Given the description of an element on the screen output the (x, y) to click on. 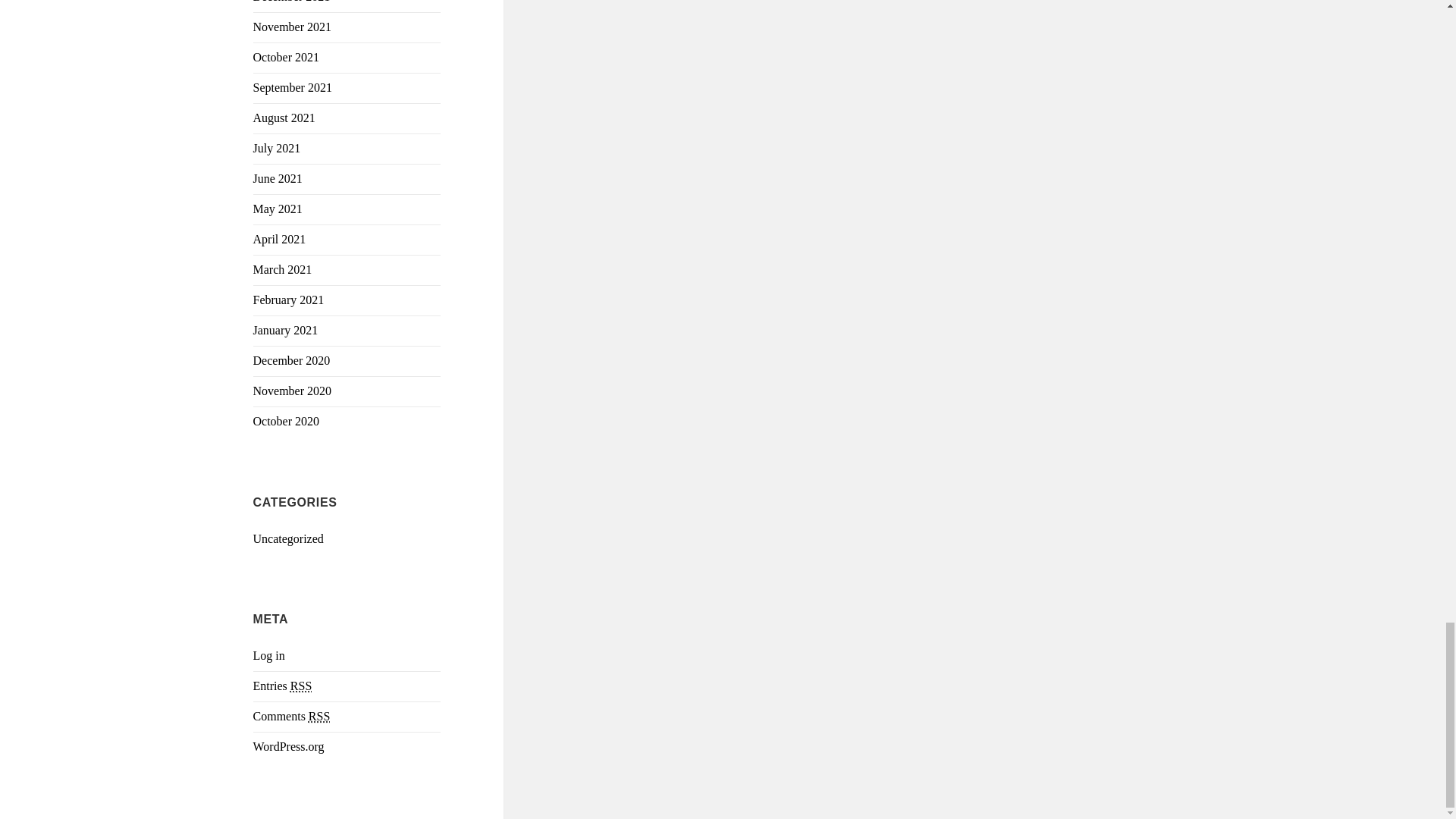
Really Simple Syndication (319, 716)
Really Simple Syndication (300, 685)
